Given the description of an element on the screen output the (x, y) to click on. 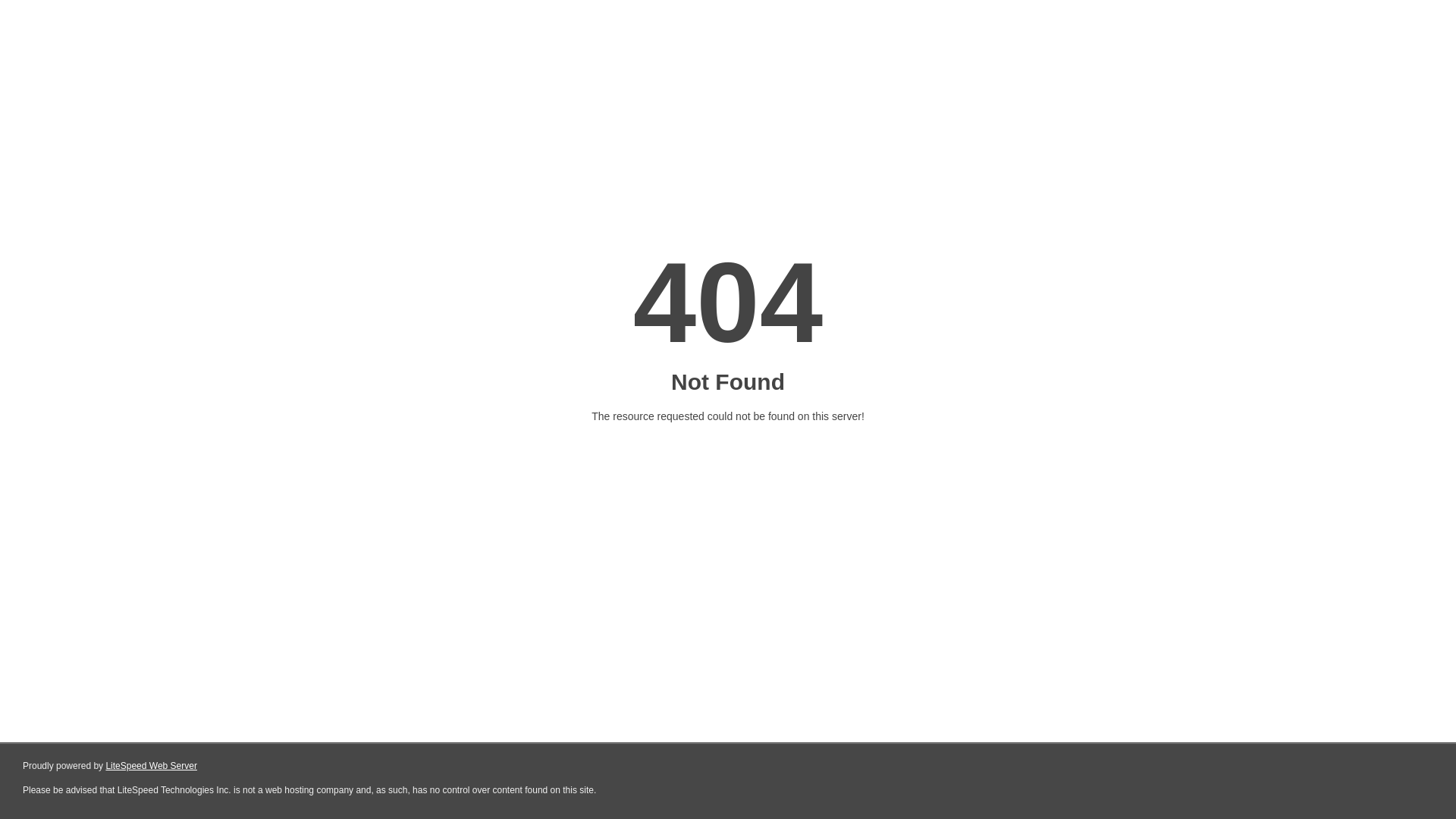
LiteSpeed Web Server Element type: text (151, 765)
